Given the description of an element on the screen output the (x, y) to click on. 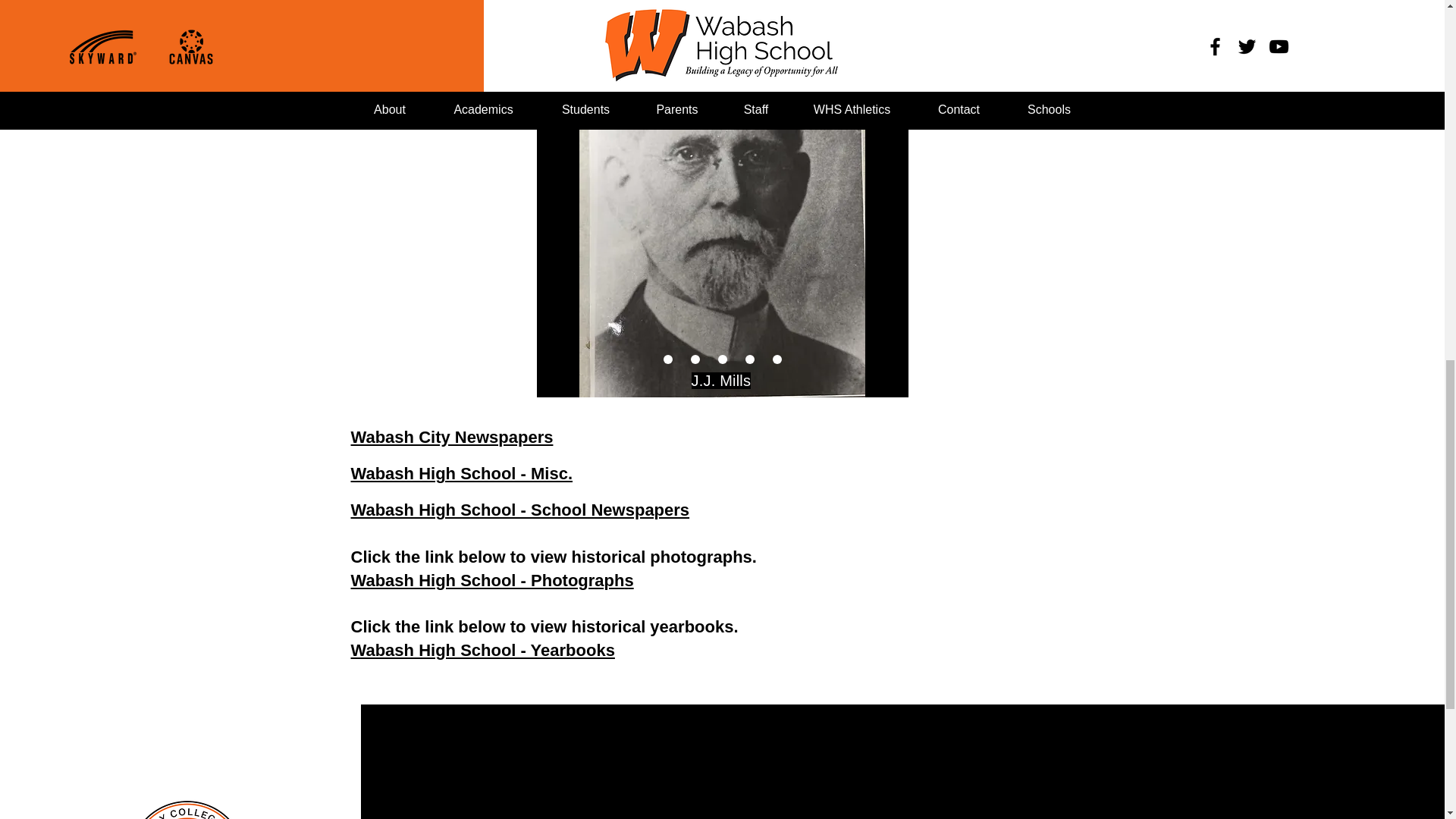
Wabash City Newspapers (451, 436)
Wabash High School - Misc. (461, 473)
Click to go to homepage (178, 791)
